Given the description of an element on the screen output the (x, y) to click on. 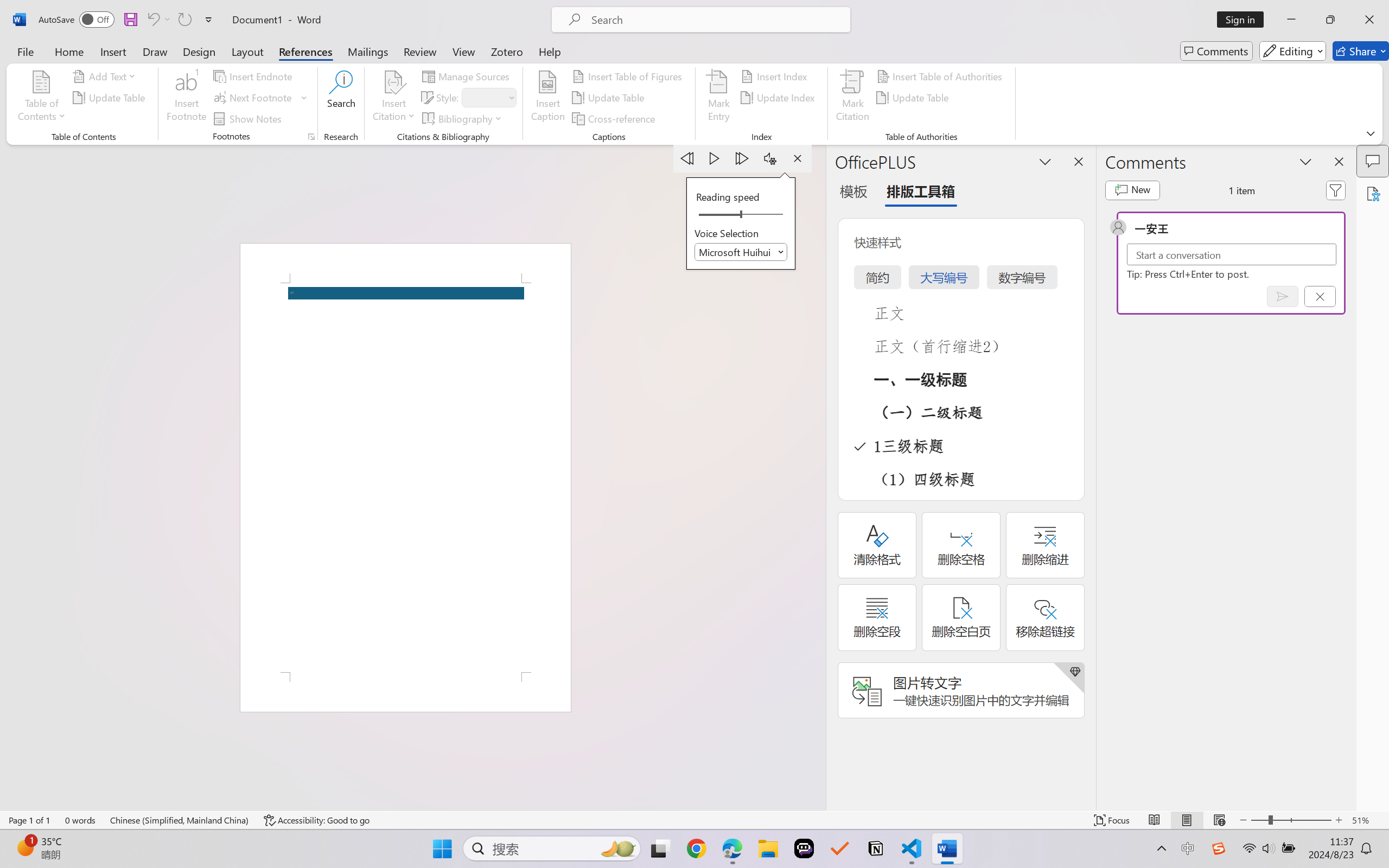
Update Table... (110, 97)
Style (483, 96)
Previous Paragraph (687, 158)
